Given the description of an element on the screen output the (x, y) to click on. 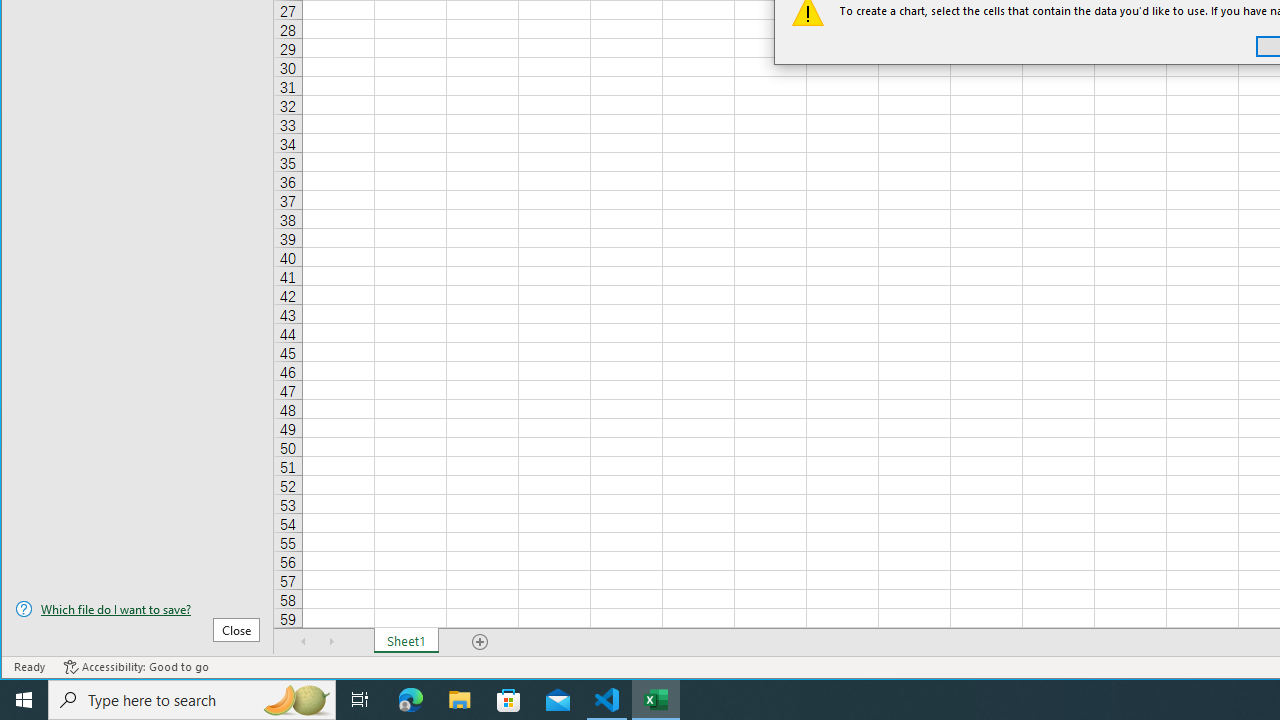
Microsoft Edge (411, 699)
